Given the description of an element on the screen output the (x, y) to click on. 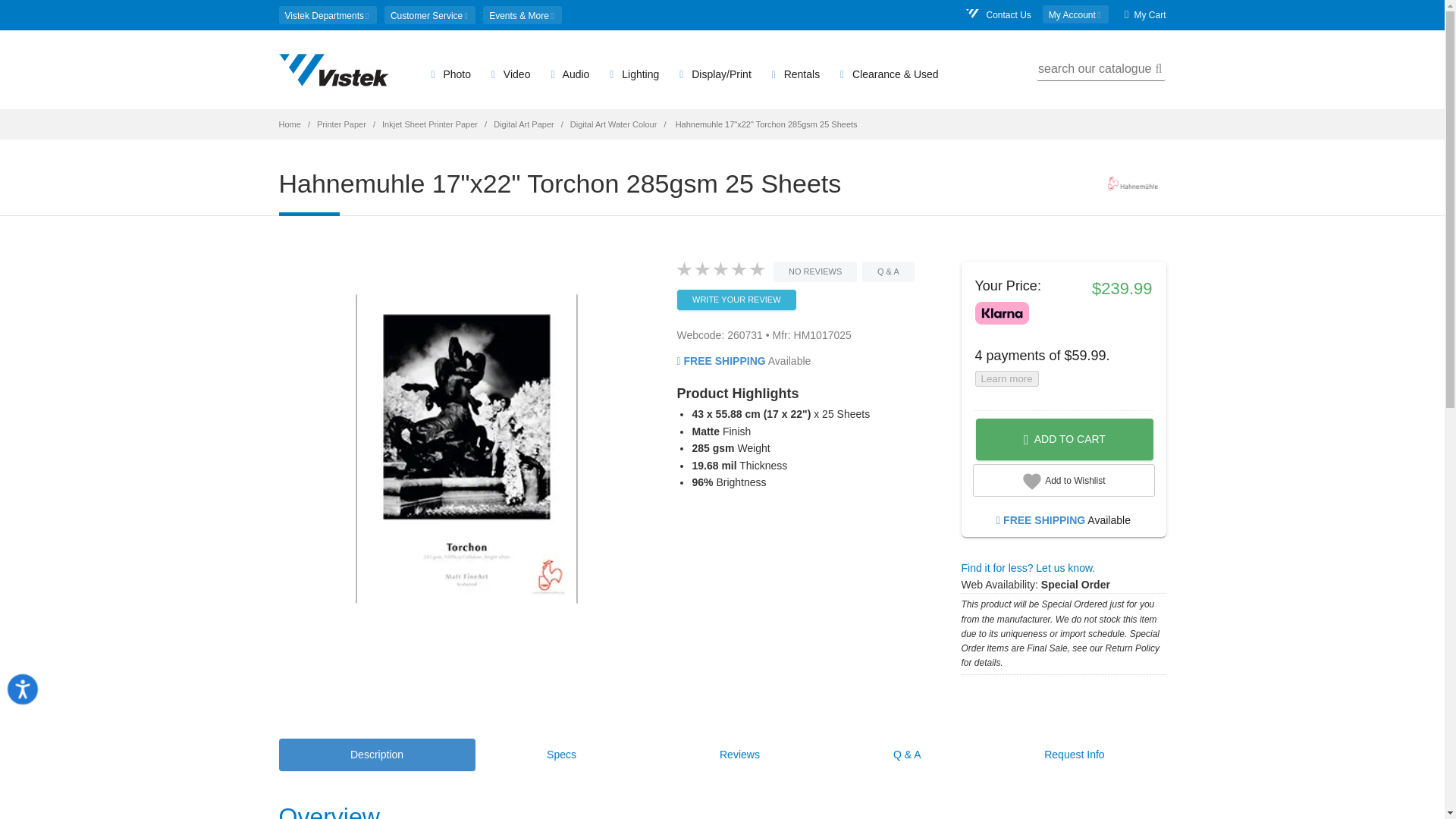
Vistek Departments (328, 14)
Contact Us (997, 15)
My Account (1075, 13)
My Cart (1145, 15)
Customer Service (430, 14)
Accessibility (39, 705)
